Given the description of an element on the screen output the (x, y) to click on. 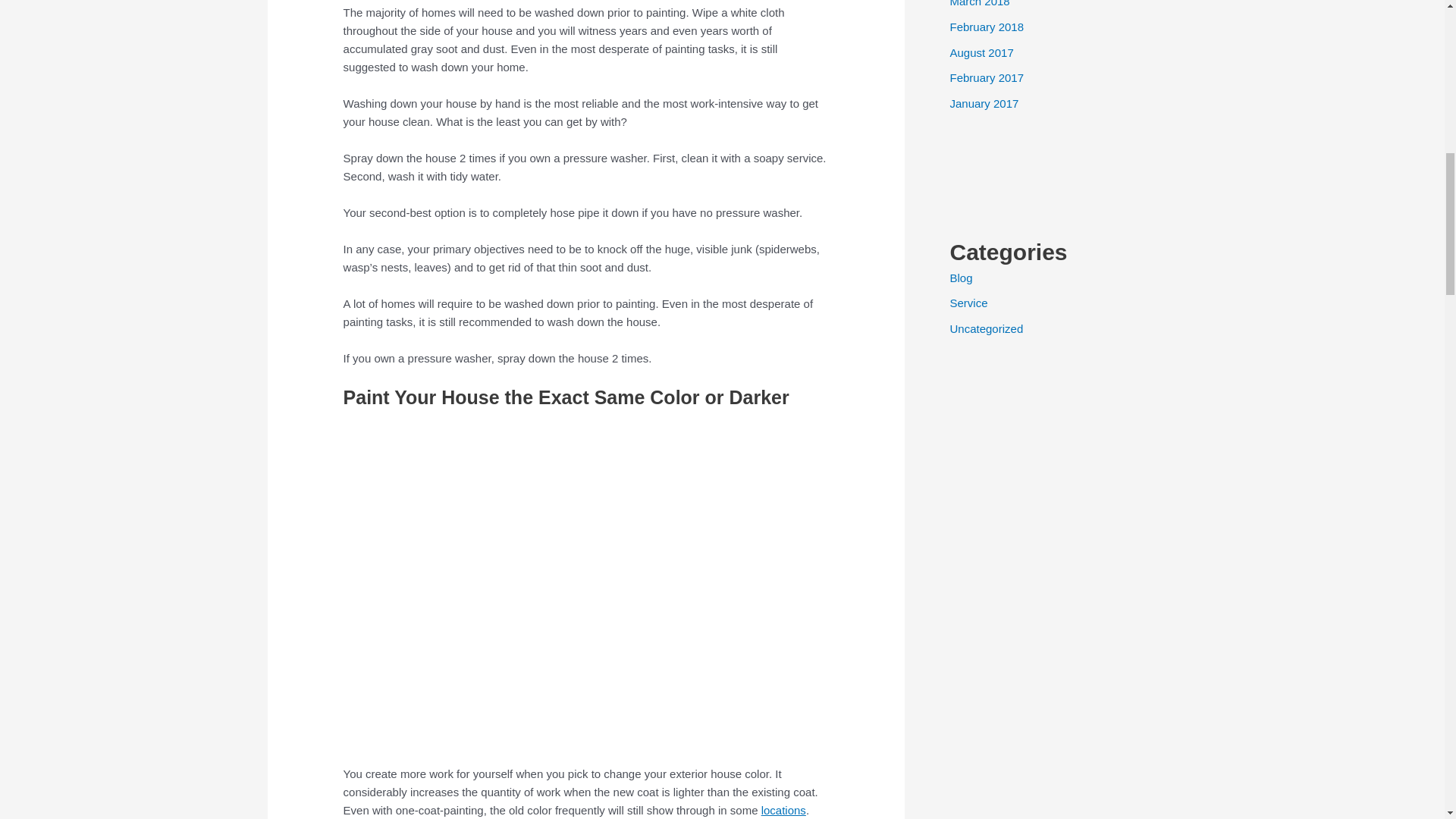
locations (783, 809)
locations (783, 809)
how do painters compute square footage? 3 (585, 584)
